Given the description of an element on the screen output the (x, y) to click on. 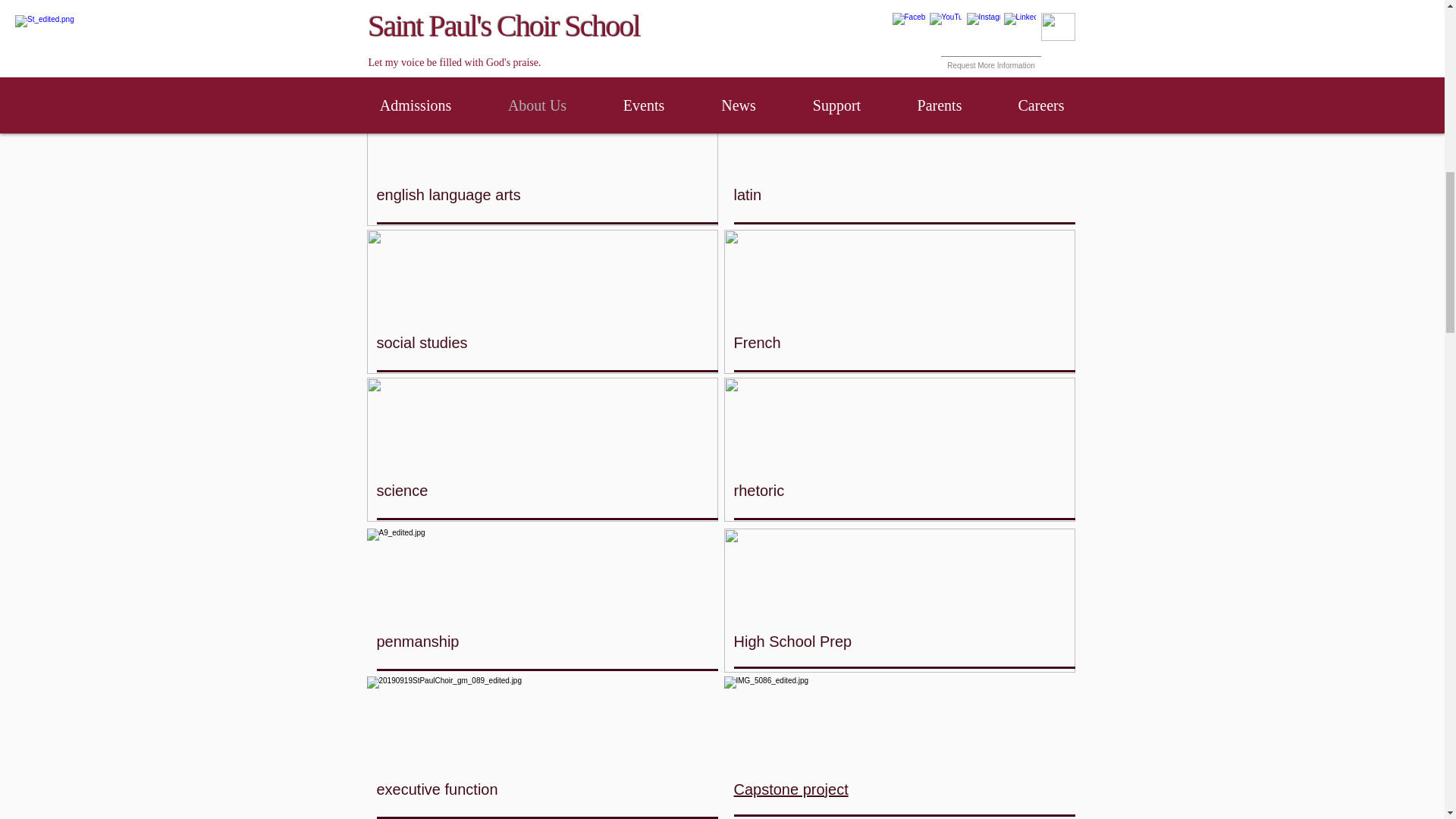
Religion (761, 46)
social studies (421, 342)
French (756, 342)
science (401, 490)
latin (747, 194)
rhetoric (758, 490)
mathematics (418, 46)
Capstone project (790, 789)
english language arts (447, 194)
